Given the description of an element on the screen output the (x, y) to click on. 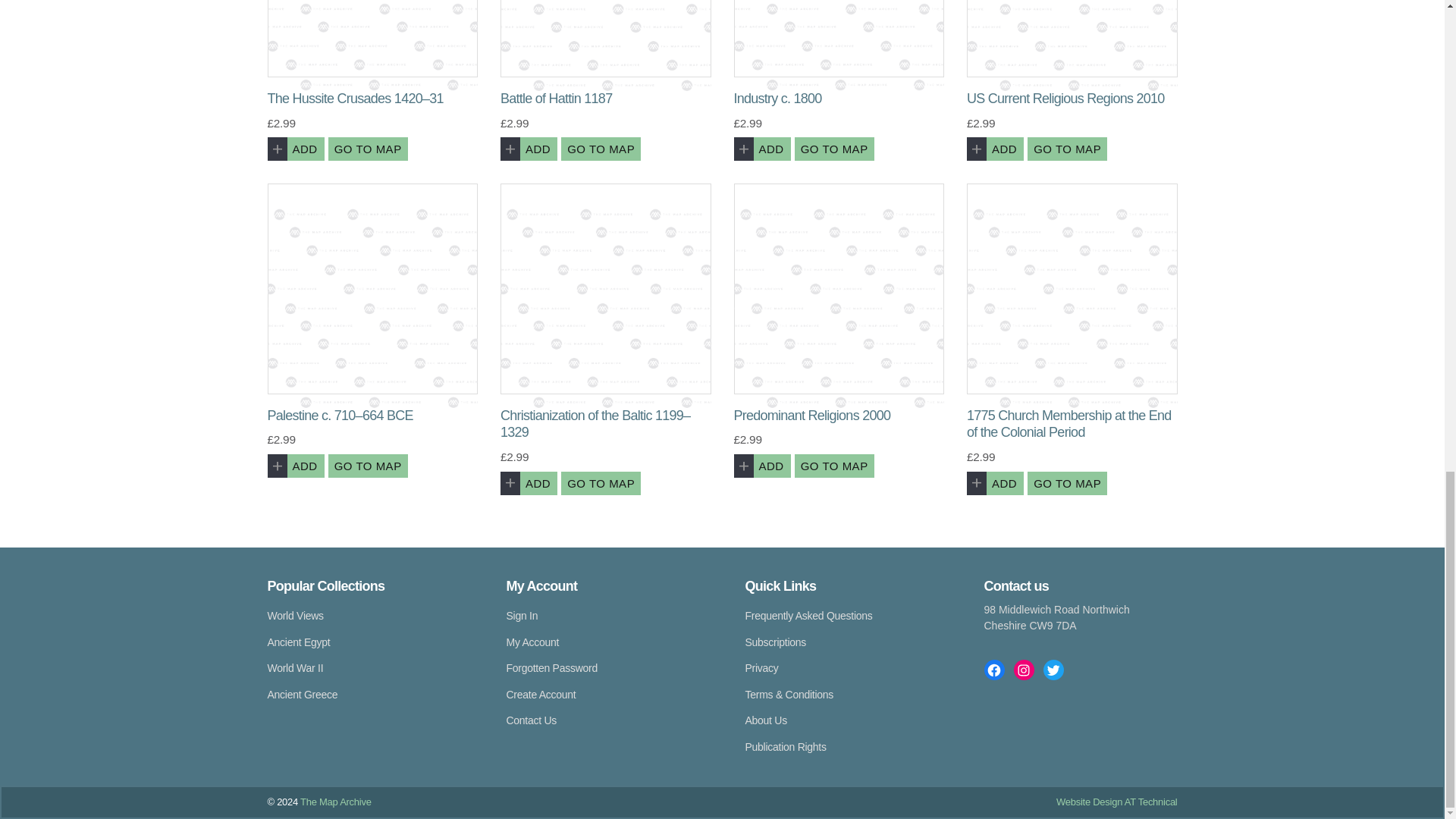
US Current Religious Regions 2010 (1071, 38)
Predominant Religions 2000 (838, 288)
1775 Church Membership at the End of the Colonial Period (1071, 288)
Battle of Hattin 1187 (605, 38)
Industry c. 1800 (838, 38)
